Given the description of an element on the screen output the (x, y) to click on. 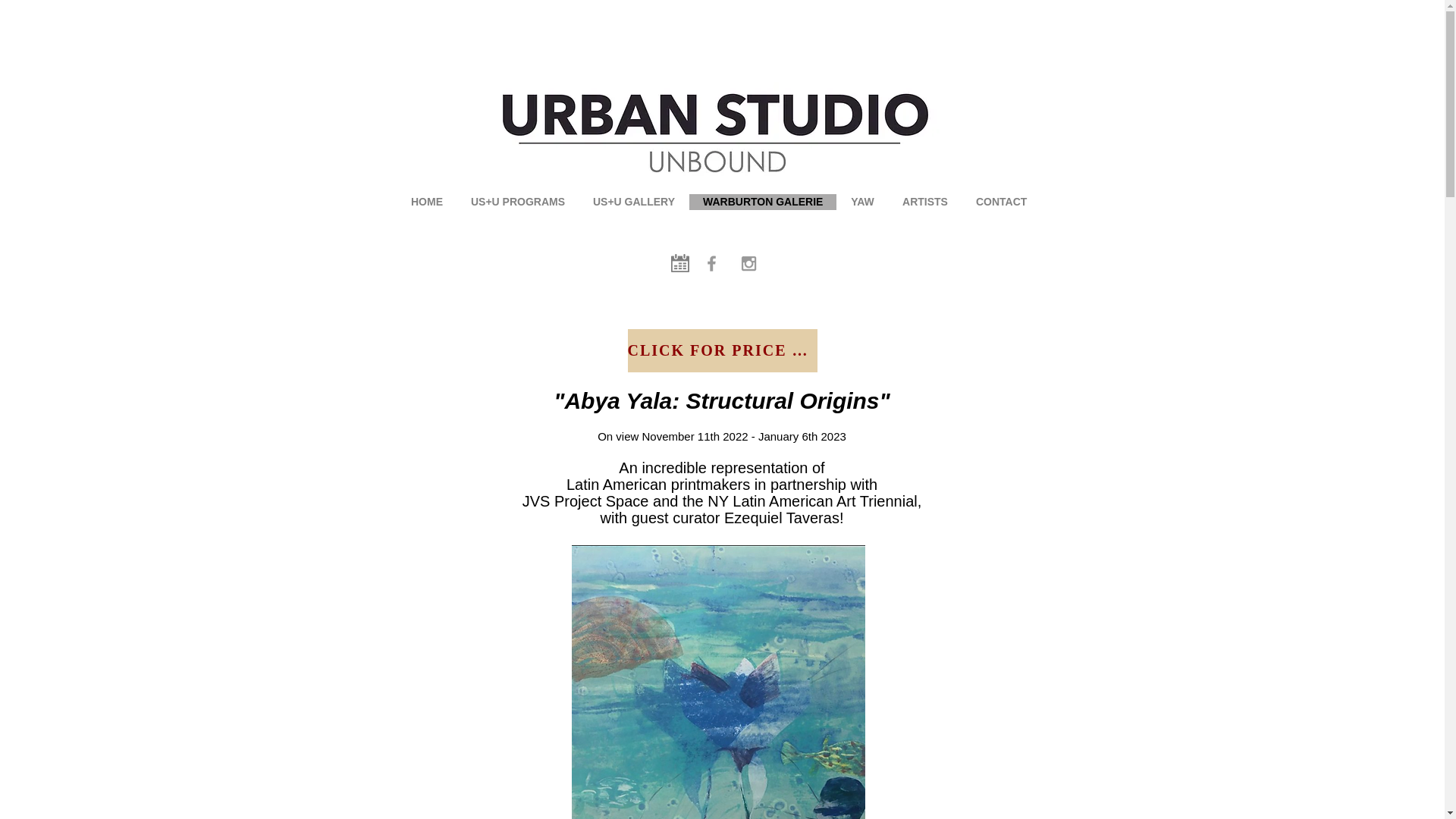
HOME (426, 201)
WARBURTON GALERIE (761, 201)
